Given the description of an element on the screen output the (x, y) to click on. 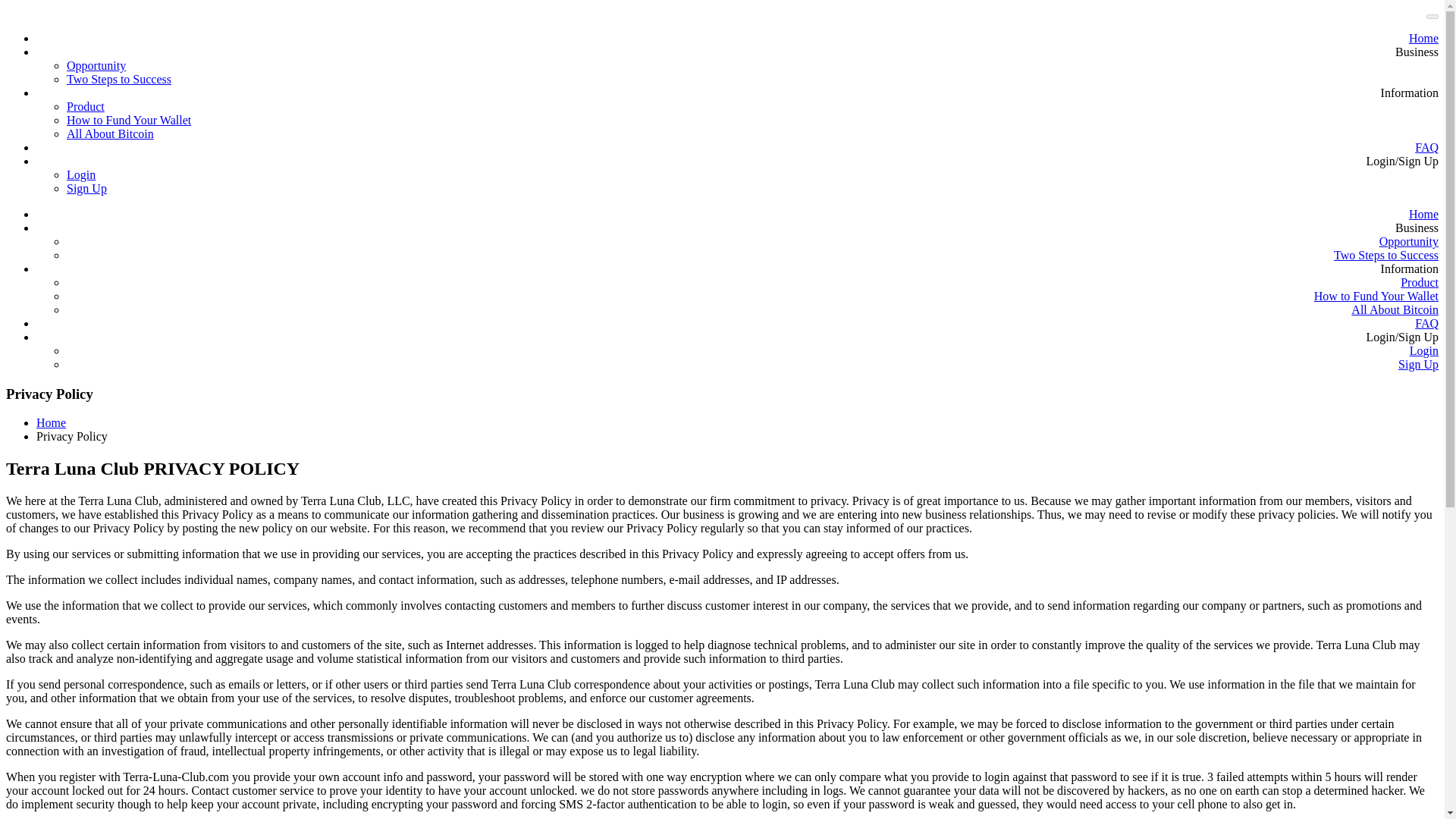
Login (81, 174)
Two Steps to Success (118, 78)
Product (85, 106)
How to Fund Your Wallet (128, 119)
All About Bitcoin (110, 133)
Opportunity (95, 65)
Home (50, 422)
Sign Up (86, 187)
